Given the description of an element on the screen output the (x, y) to click on. 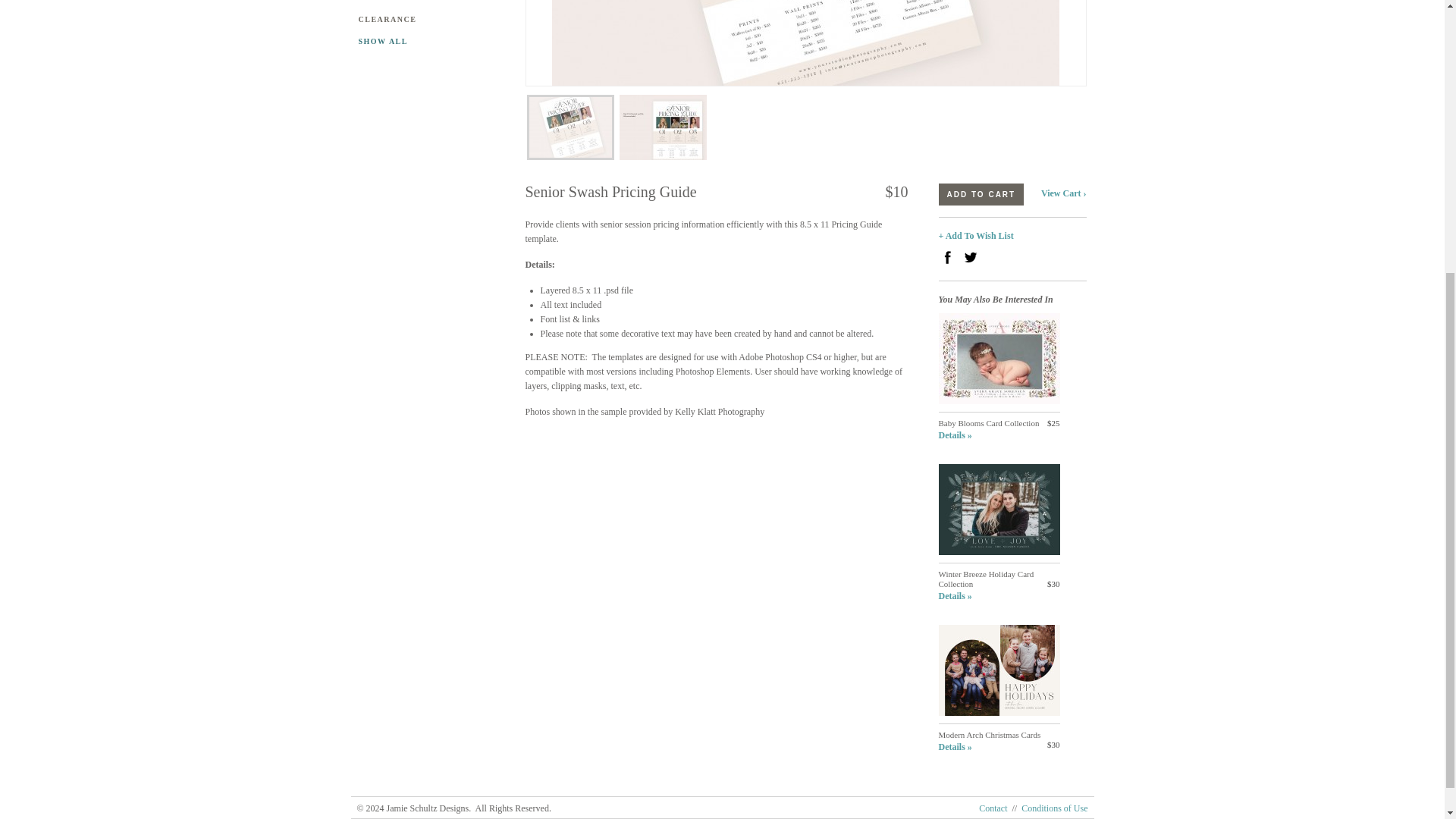
ADD TO CART (982, 194)
CLEARANCE (430, 19)
SHOW ALL (430, 41)
PHOTO ORNAMENTS (430, 2)
